Given the description of an element on the screen output the (x, y) to click on. 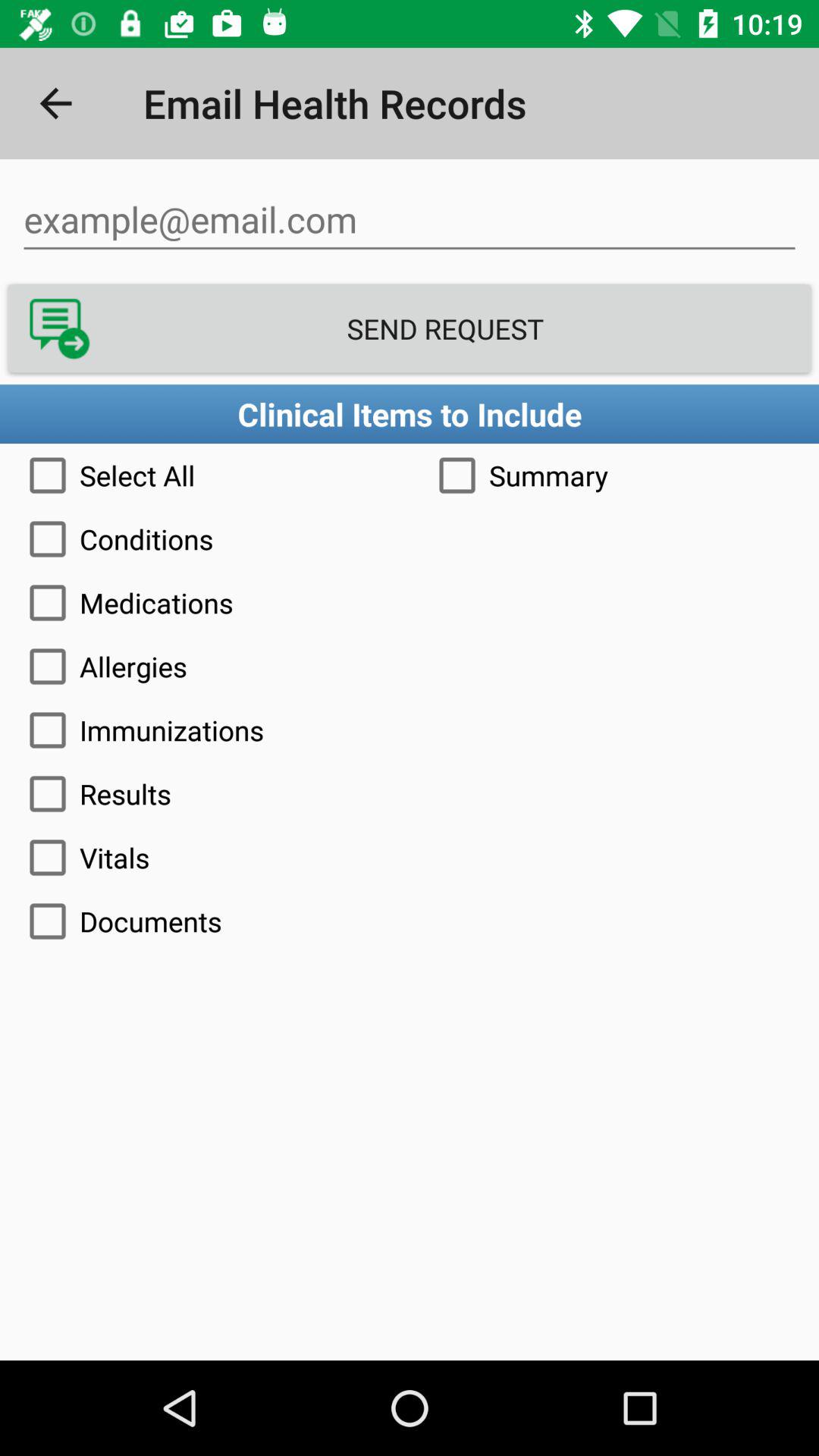
enter your email address (409, 220)
